Given the description of an element on the screen output the (x, y) to click on. 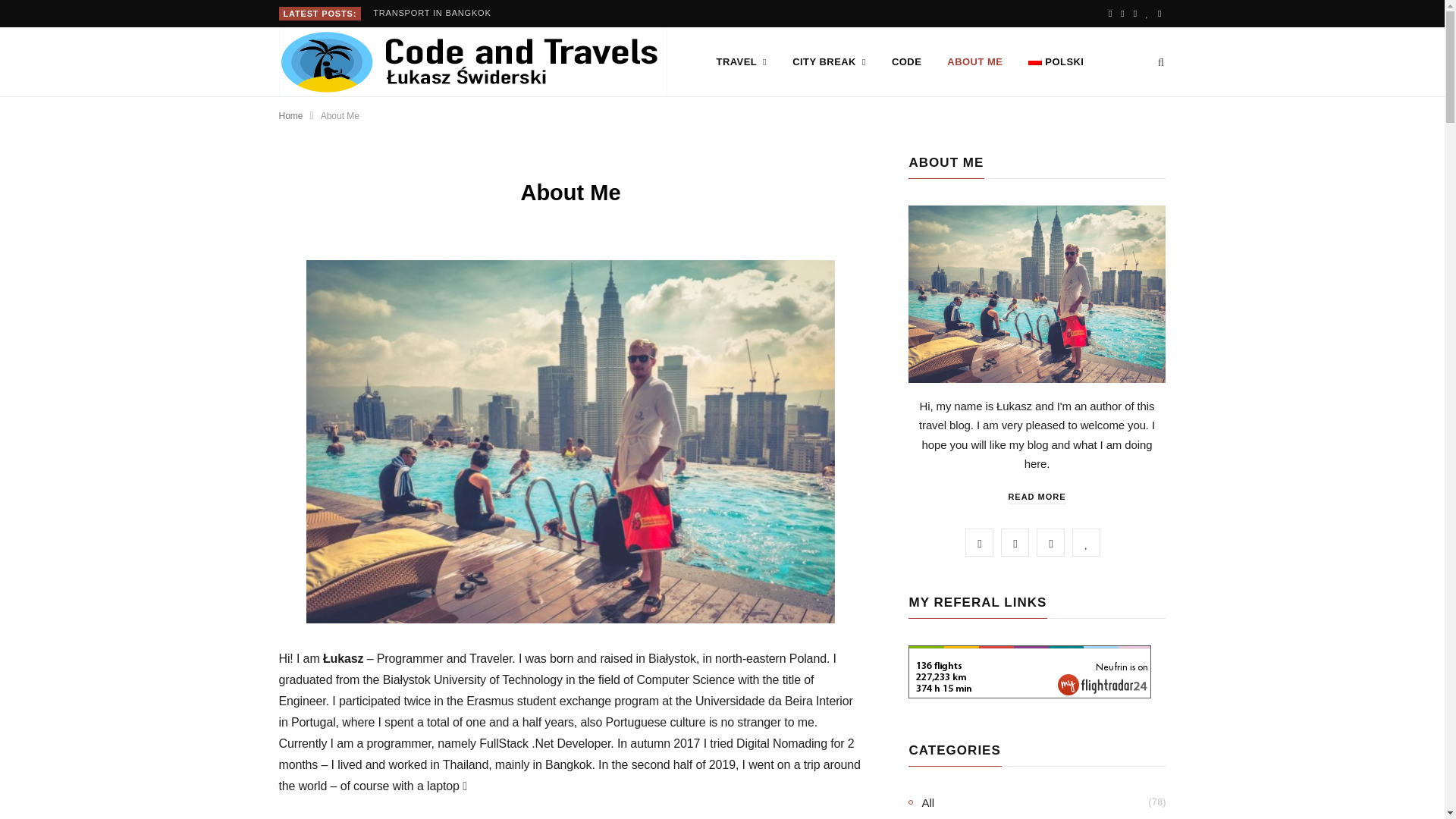
TRANSPORT IN BANGKOK (434, 12)
Transport in Bangkok (434, 12)
TRAVEL (741, 61)
Code and Travels (472, 61)
